Given the description of an element on the screen output the (x, y) to click on. 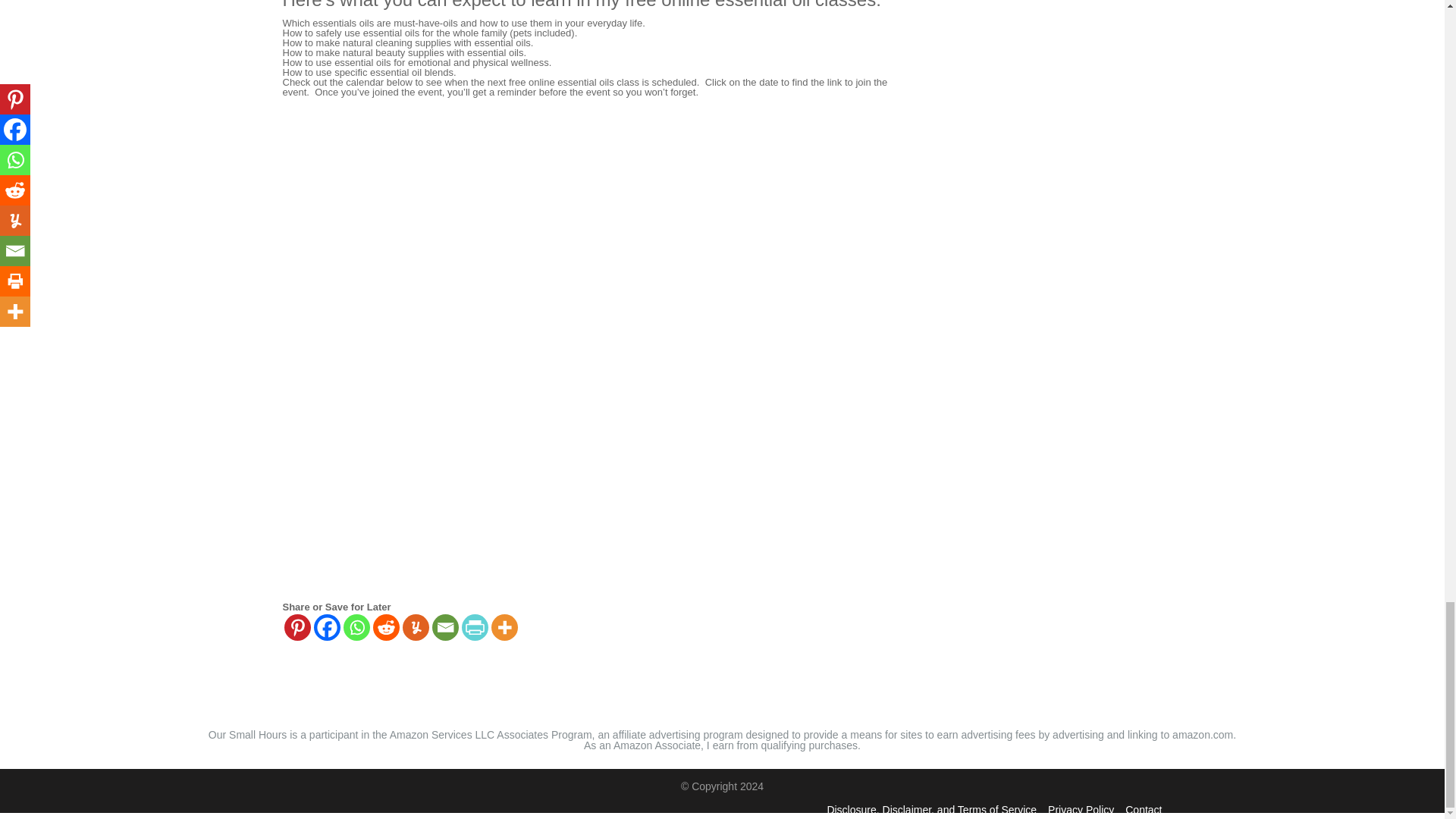
Facebook (327, 627)
Whatsapp (355, 627)
Reddit (385, 627)
Pinterest (296, 627)
